Given the description of an element on the screen output the (x, y) to click on. 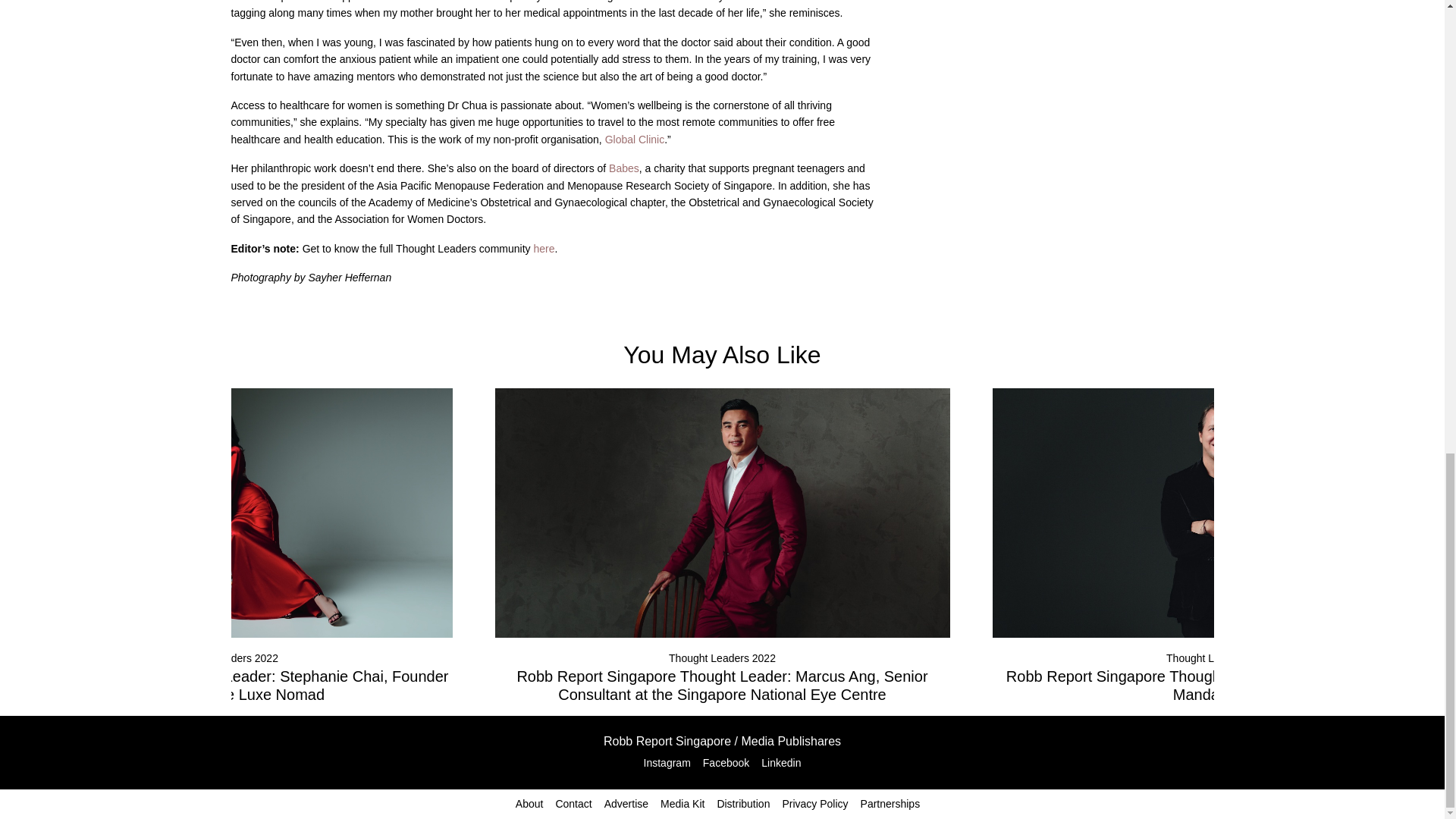
Global Clinic (632, 139)
Babes (622, 168)
